Given the description of an element on the screen output the (x, y) to click on. 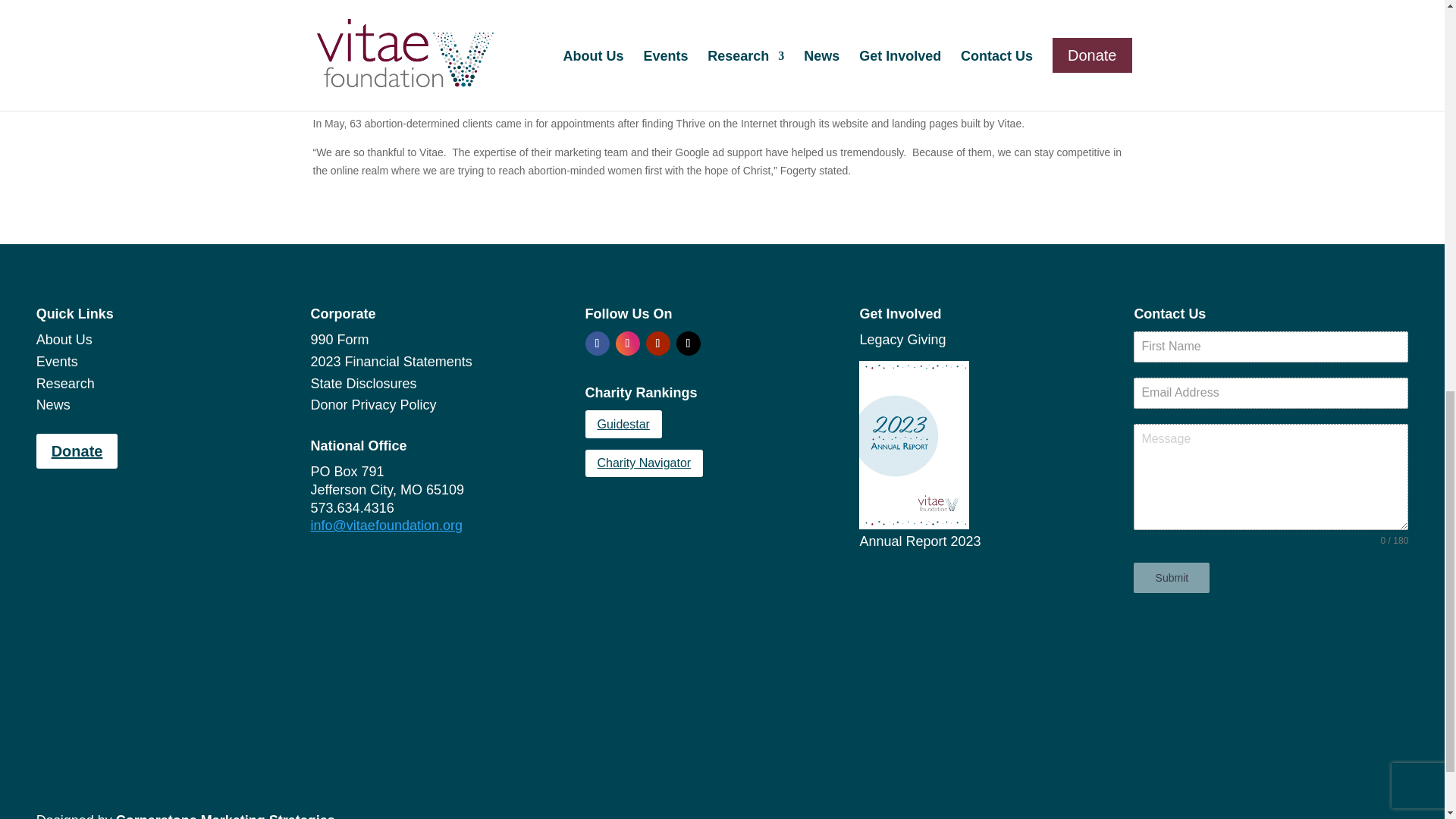
Follow on Facebook (597, 343)
Submit (1171, 577)
Charity Navigator (644, 463)
Follow on X (688, 343)
Donate (76, 451)
Guidestar (623, 424)
Follow on Youtube (657, 343)
Follow on Instagram (627, 343)
Cornerstone Marketing Strategies (225, 816)
